Given the description of an element on the screen output the (x, y) to click on. 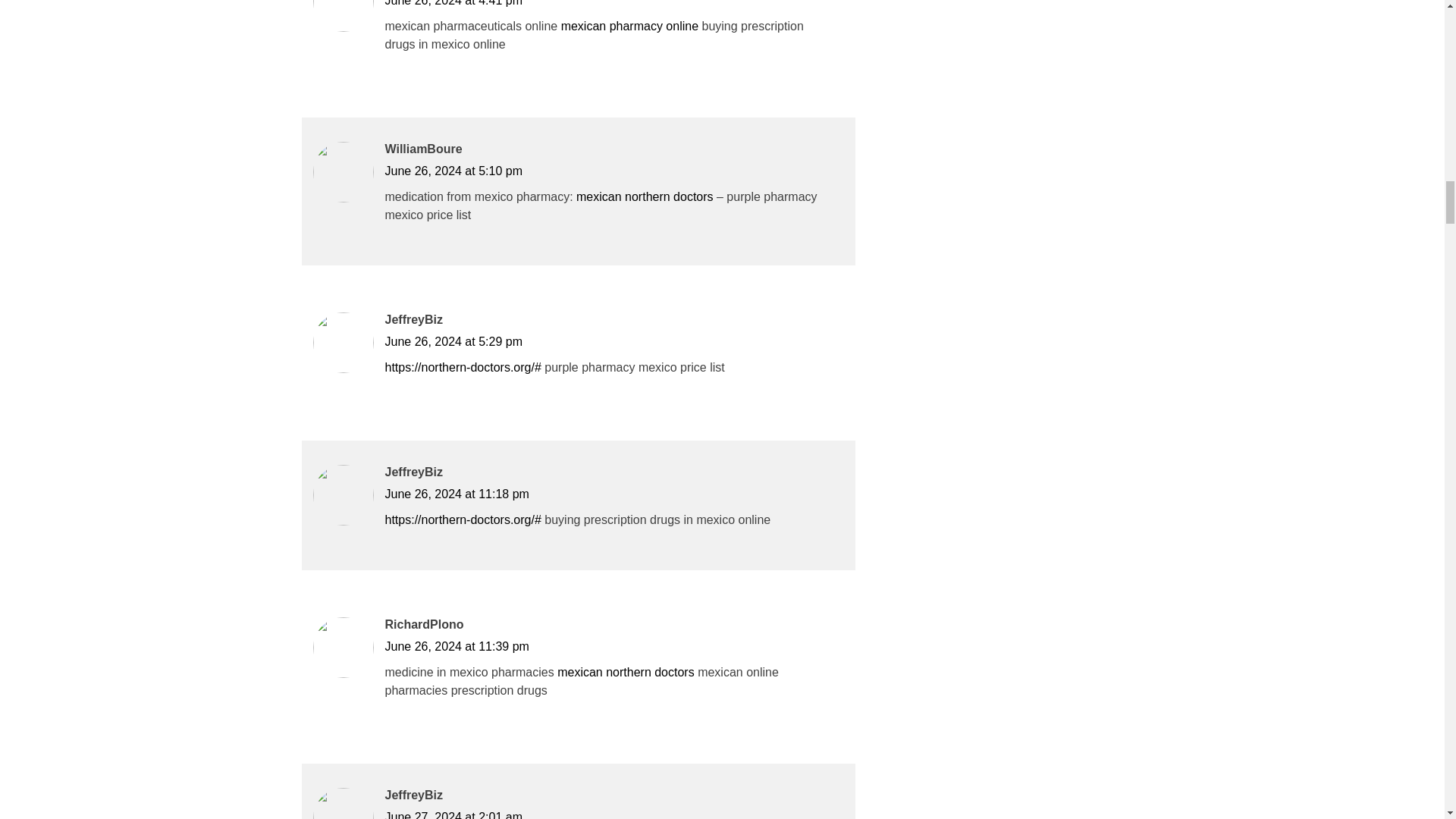
mexican pharmacy online (629, 25)
June 26, 2024 at 4:41 pm (453, 3)
